Given the description of an element on the screen output the (x, y) to click on. 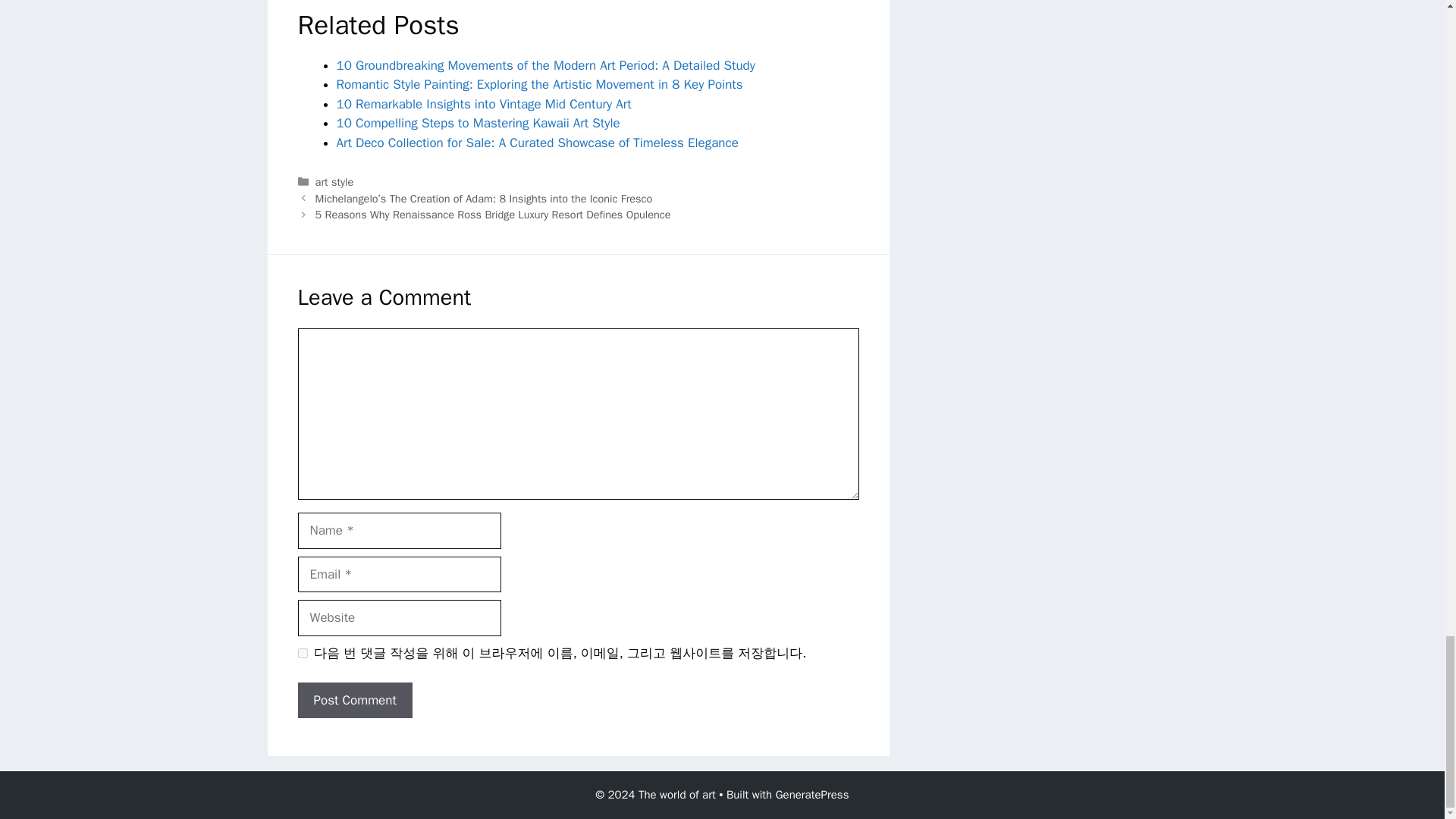
Post Comment (354, 700)
Post Comment (354, 700)
yes (302, 653)
10 Compelling Steps to Mastering Kawaii Art Style (478, 123)
10 Remarkable Insights into Vintage Mid Century Art (483, 104)
art style (334, 182)
